Given the description of an element on the screen output the (x, y) to click on. 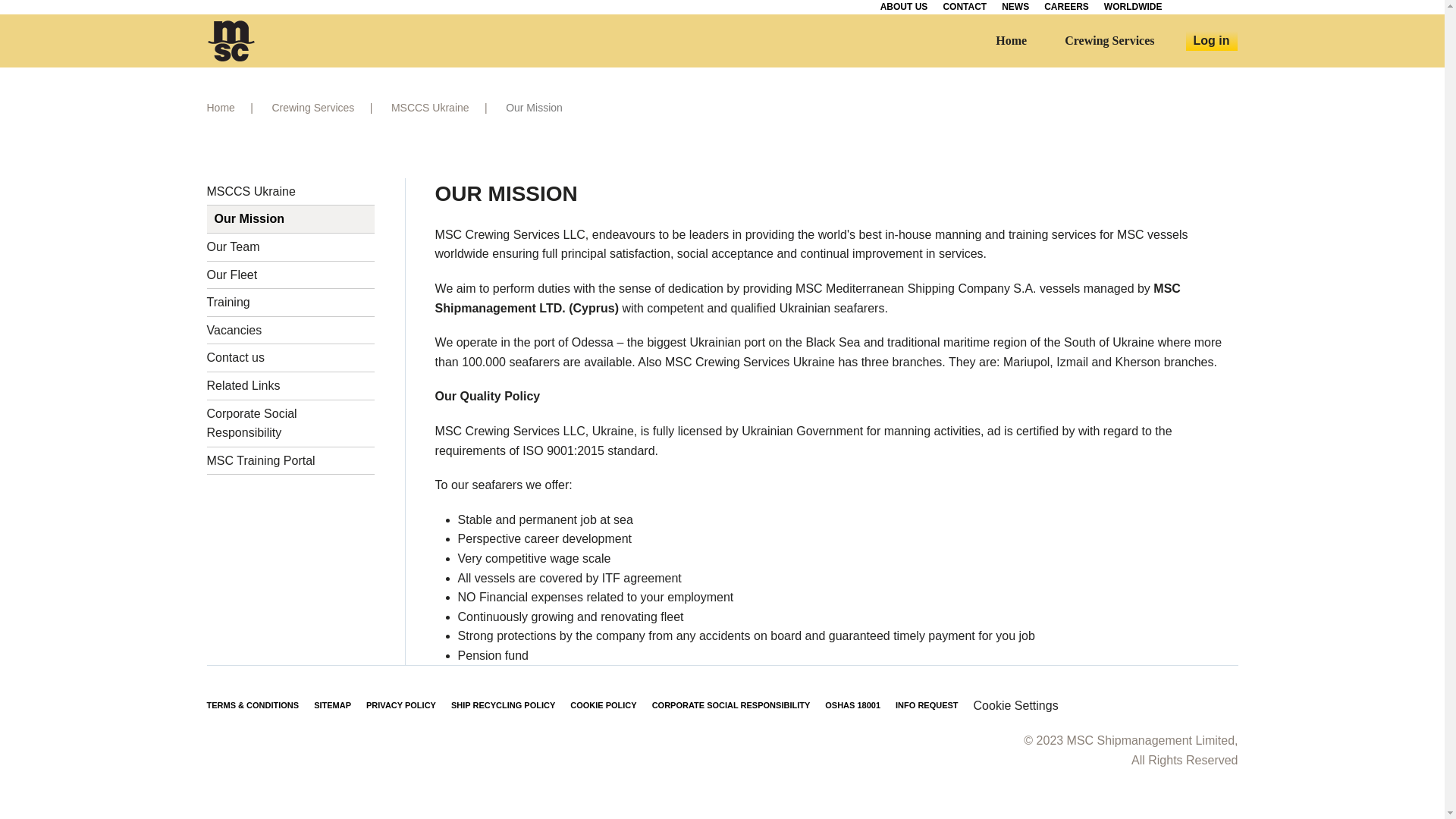
COOKIE POLICY (603, 705)
MSCCS Ukraine (290, 192)
Crewing Services (311, 107)
Related Links (290, 386)
WORLDWIDE (1132, 7)
CORPORATE SOCIAL RESPONSIBILITY (731, 705)
Crewing Services (1109, 40)
Corporate Social Responsibility (290, 423)
OUR MISSION (662, 193)
Our Fleet (290, 275)
MSC Training Portal (290, 461)
PRIVACY POLICY (400, 705)
Training (290, 302)
CONTACT (964, 7)
ABOUT US (904, 7)
